Given the description of an element on the screen output the (x, y) to click on. 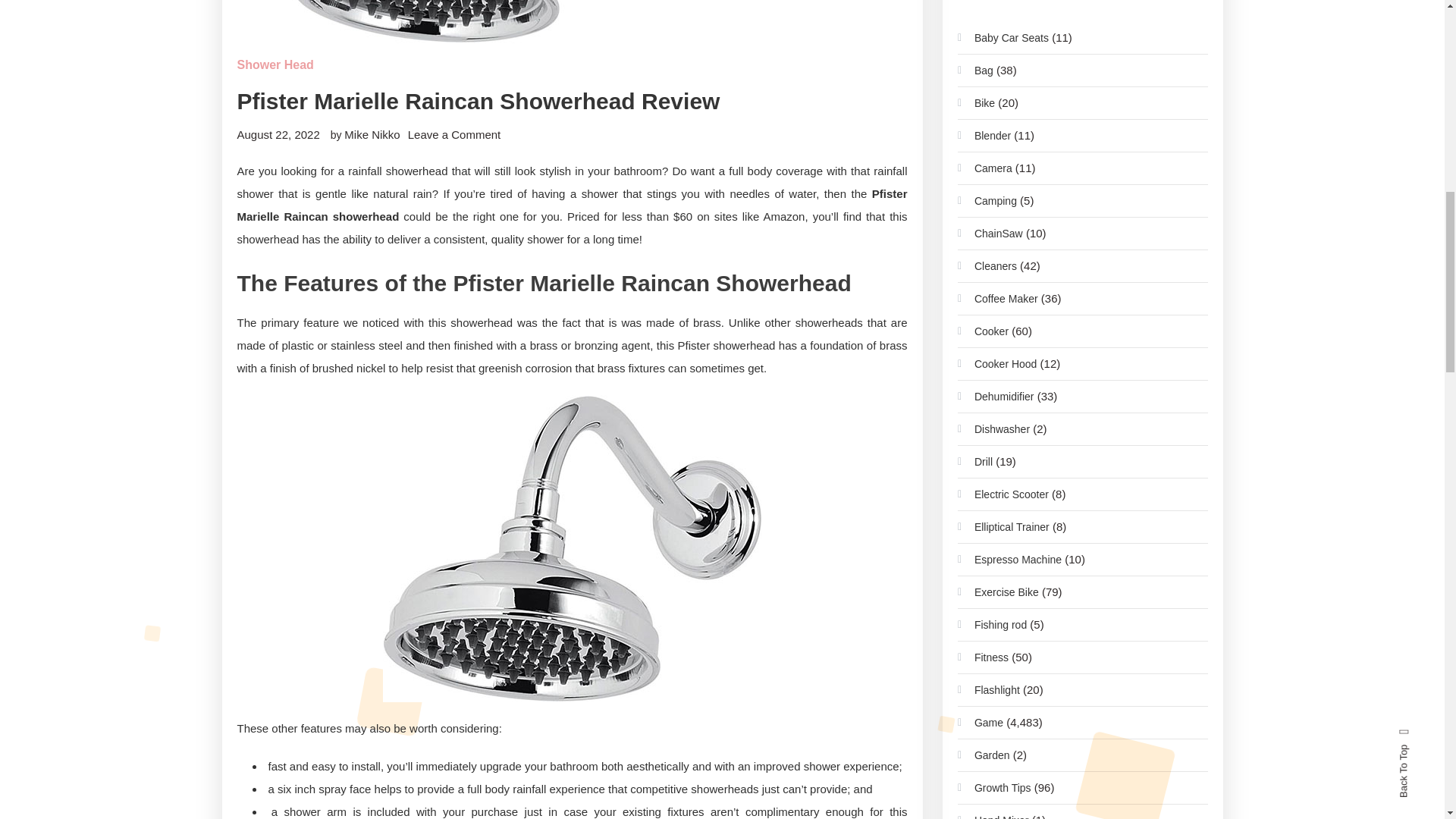
Shower Head (274, 65)
Mike Nikko (370, 133)
August 22, 2022 (276, 133)
